Given the description of an element on the screen output the (x, y) to click on. 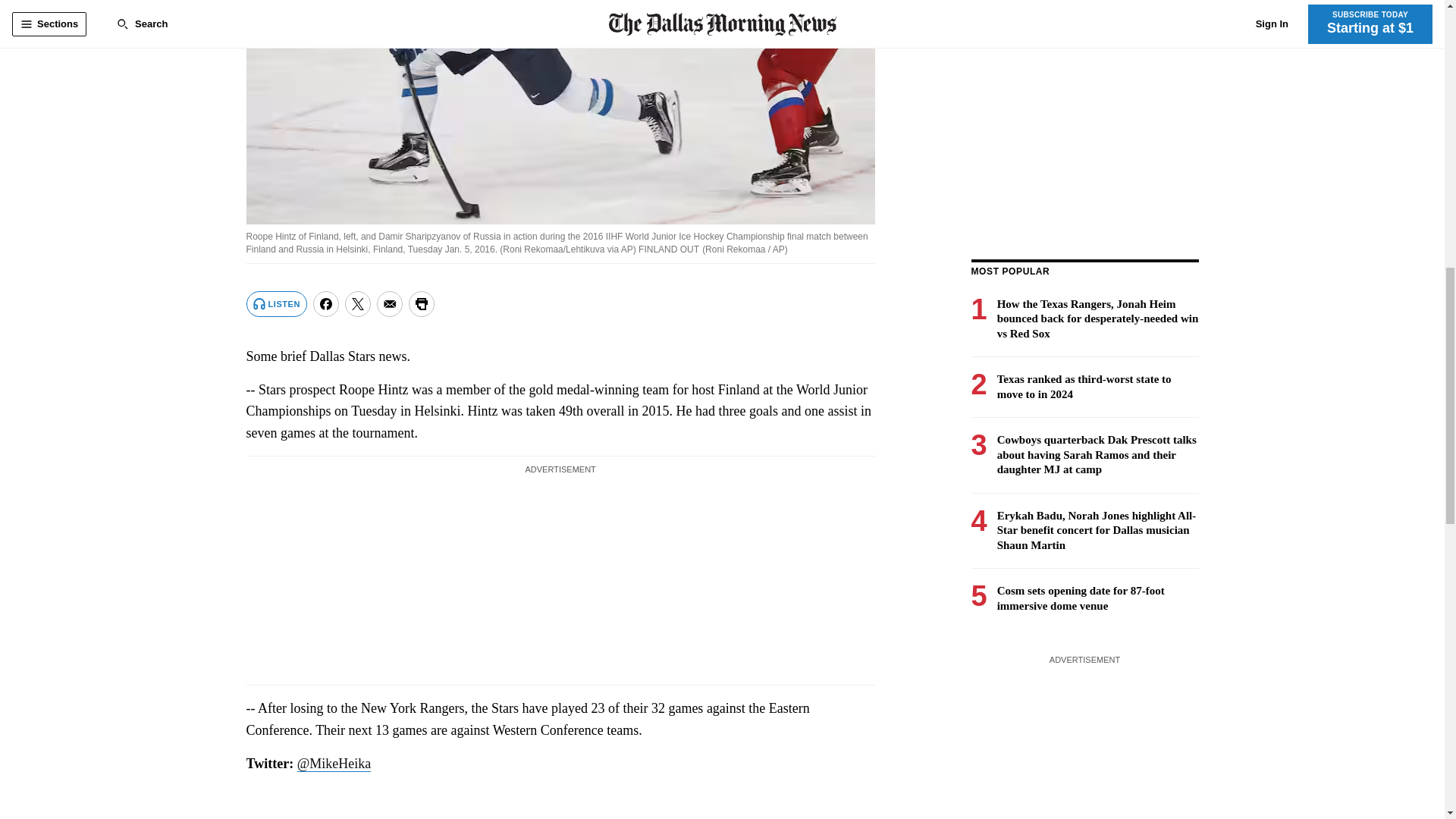
Share via Email (390, 303)
Share on Twitter (358, 303)
Print (421, 303)
Share on Facebook (326, 303)
